Given the description of an element on the screen output the (x, y) to click on. 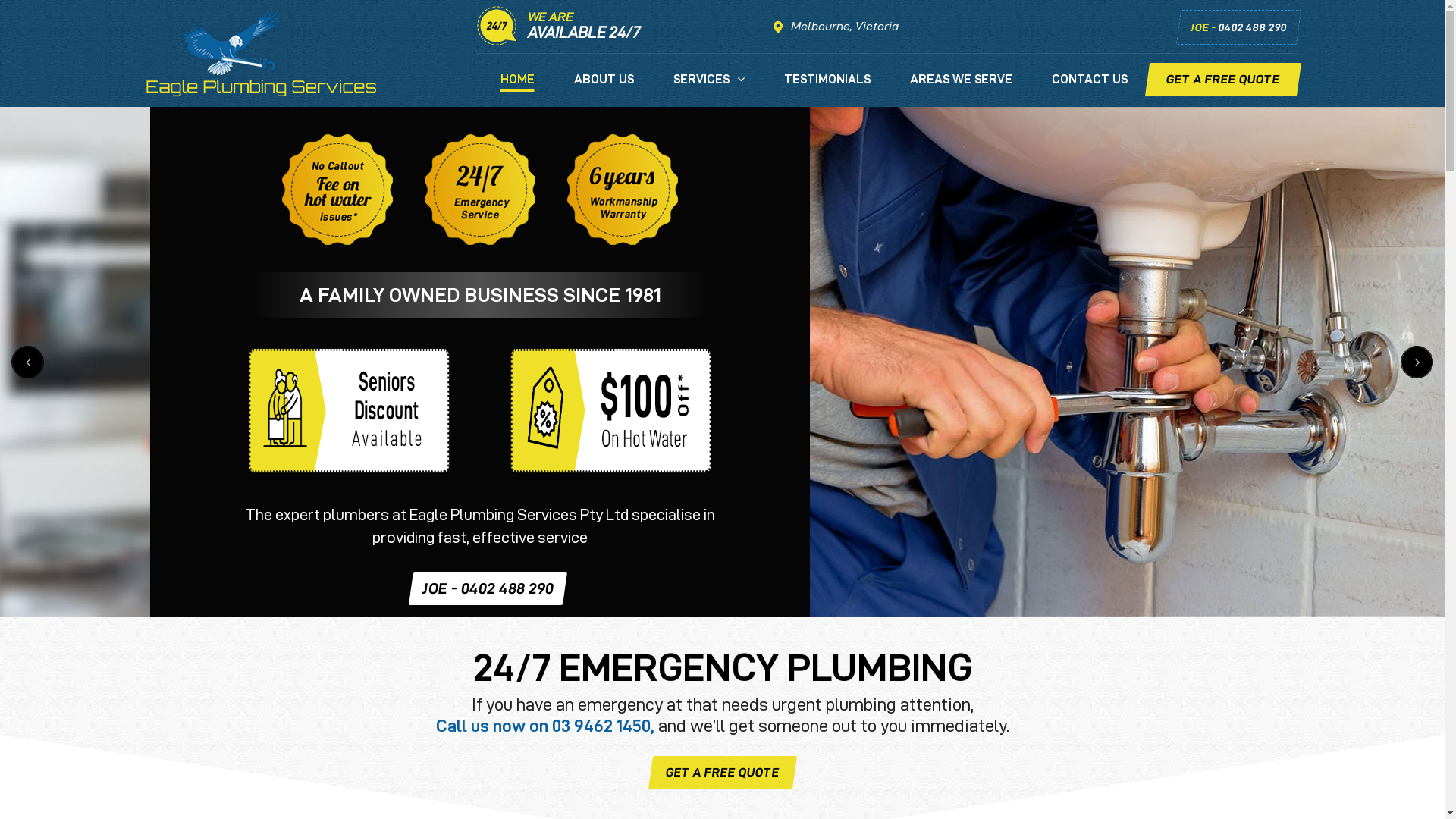
JOE - 0402 488 290 Element type: text (1235, 26)
TESTIMONIALS Element type: text (827, 88)
SERVICES Element type: text (708, 88)
HOME Element type: text (517, 88)
AREAS WE SERVE Element type: text (961, 88)
JOE - 0402 488 290 Element type: text (485, 588)
CONTACT US Element type: text (1088, 88)
03 9462 1450 Element type: text (601, 725)
Next Element type: text (1416, 361)
Previous Element type: text (27, 361)
GET A FREE QUOTE Element type: text (1219, 79)
GET A FREE QUOTE Element type: text (719, 772)
ABOUT US Element type: text (603, 88)
